Given the description of an element on the screen output the (x, y) to click on. 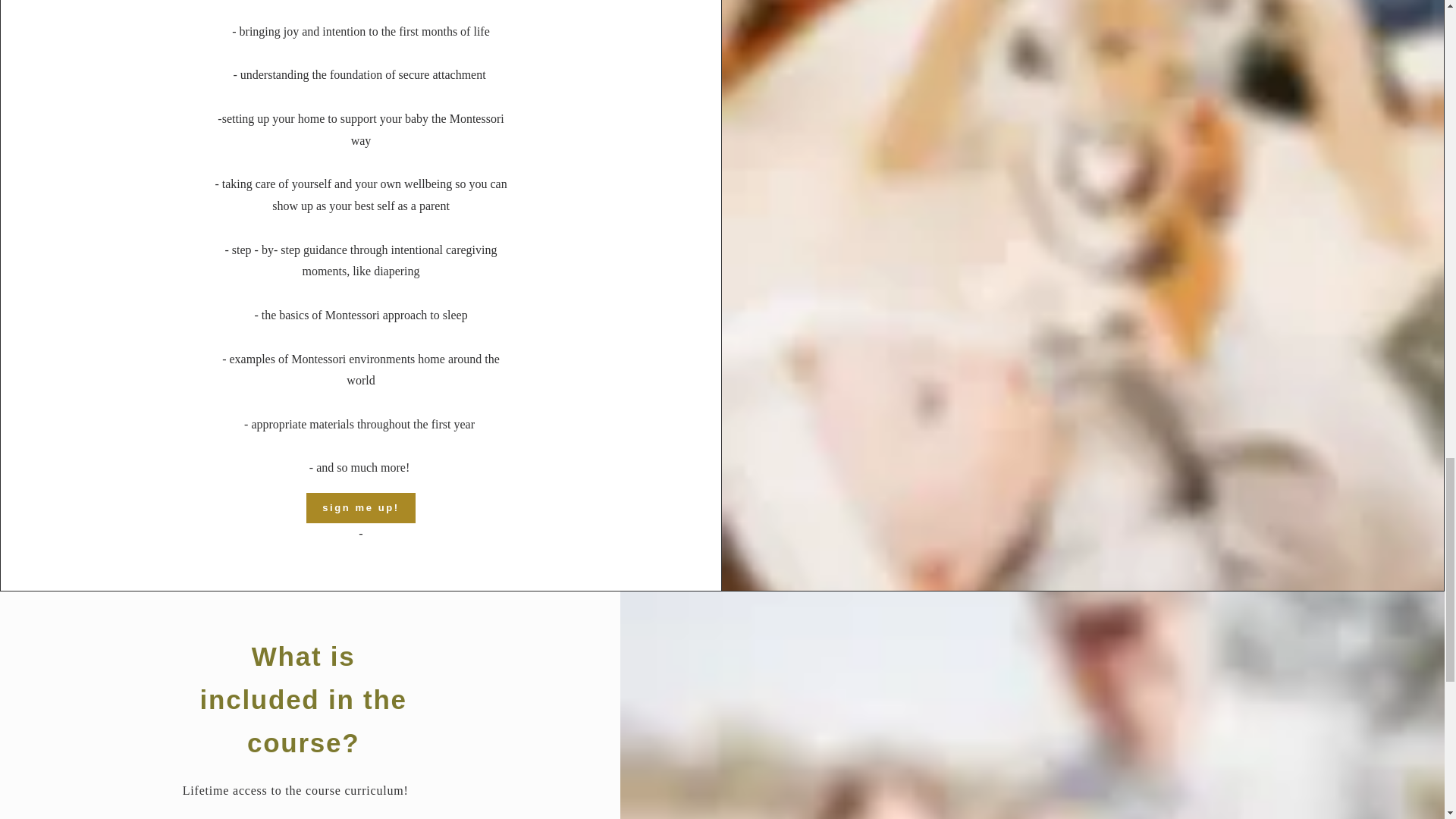
sign me up! (359, 508)
